Given the description of an element on the screen output the (x, y) to click on. 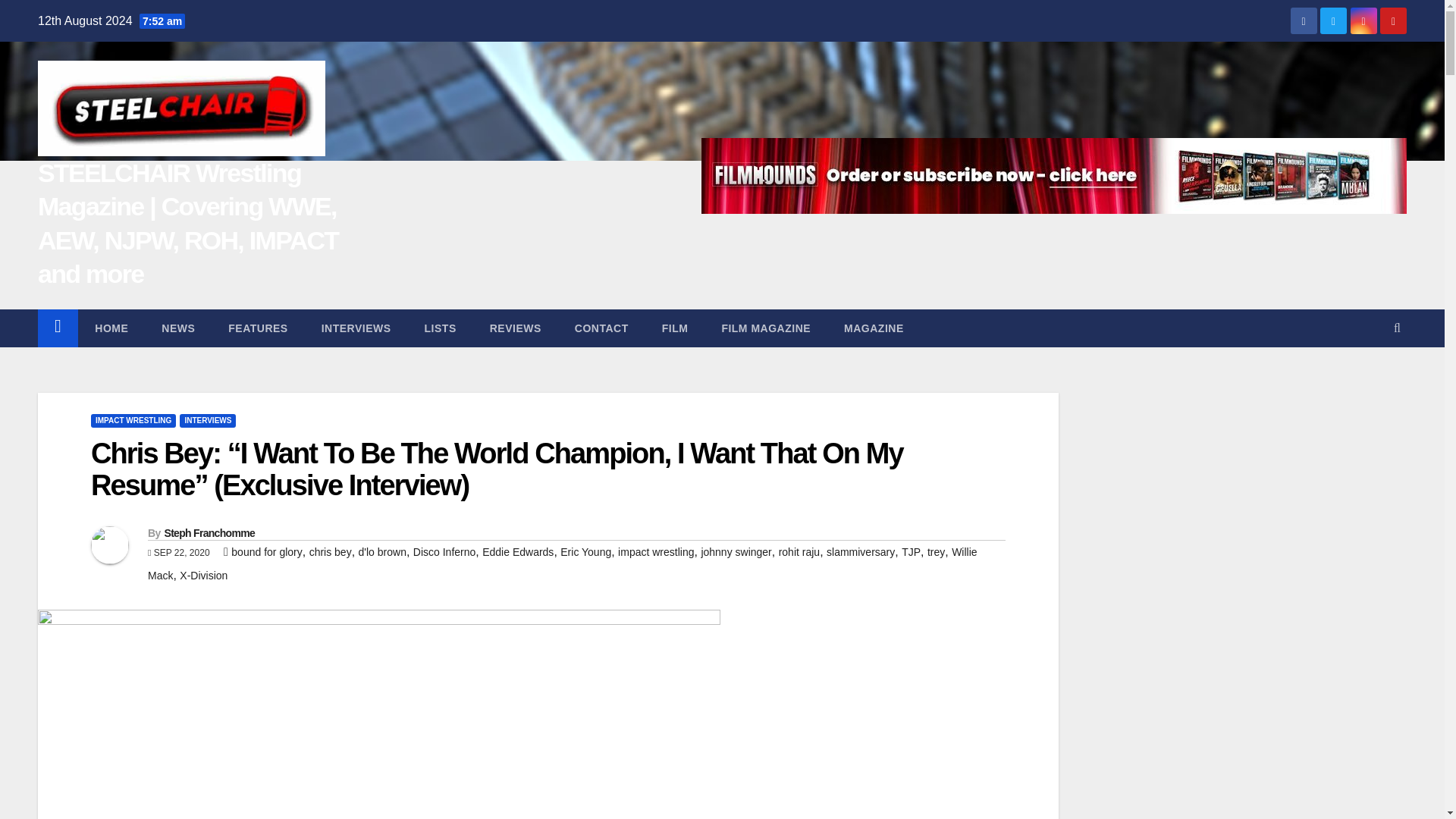
LISTS (440, 328)
FILM MAGAZINE (765, 328)
FILM (674, 328)
REVIEWS (515, 328)
impact wrestling (655, 551)
CONTACT (601, 328)
Eric Young (585, 551)
NEWS (177, 328)
INTERVIEWS (355, 328)
Disco Inferno (444, 551)
